Given the description of an element on the screen output the (x, y) to click on. 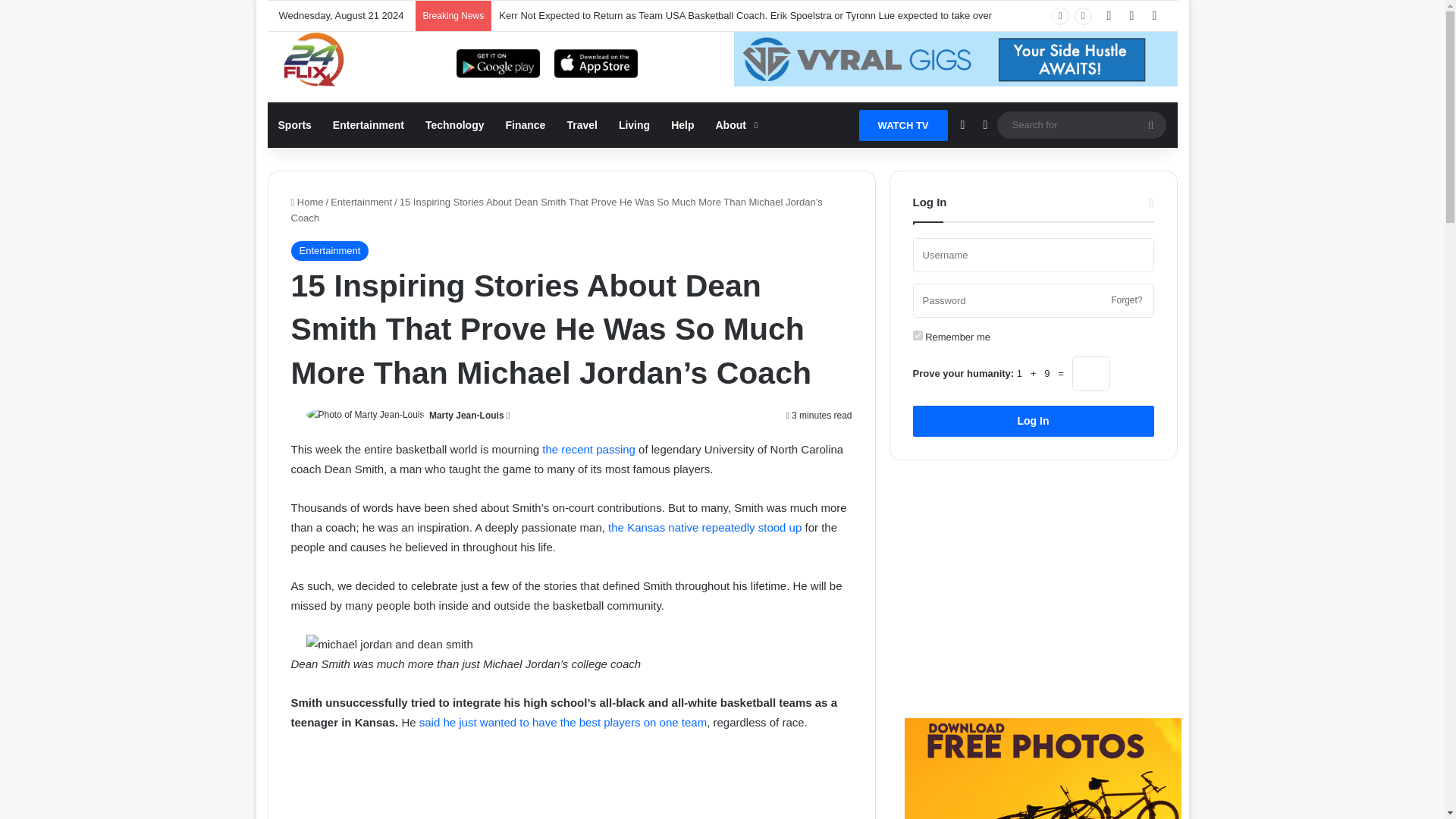
Travel (581, 125)
WATCH TV (903, 124)
Entertainment (367, 125)
WATCH TV (903, 124)
Sports (293, 125)
Help (682, 125)
forever (917, 335)
Finance (525, 125)
Technology (454, 125)
